Given the description of an element on the screen output the (x, y) to click on. 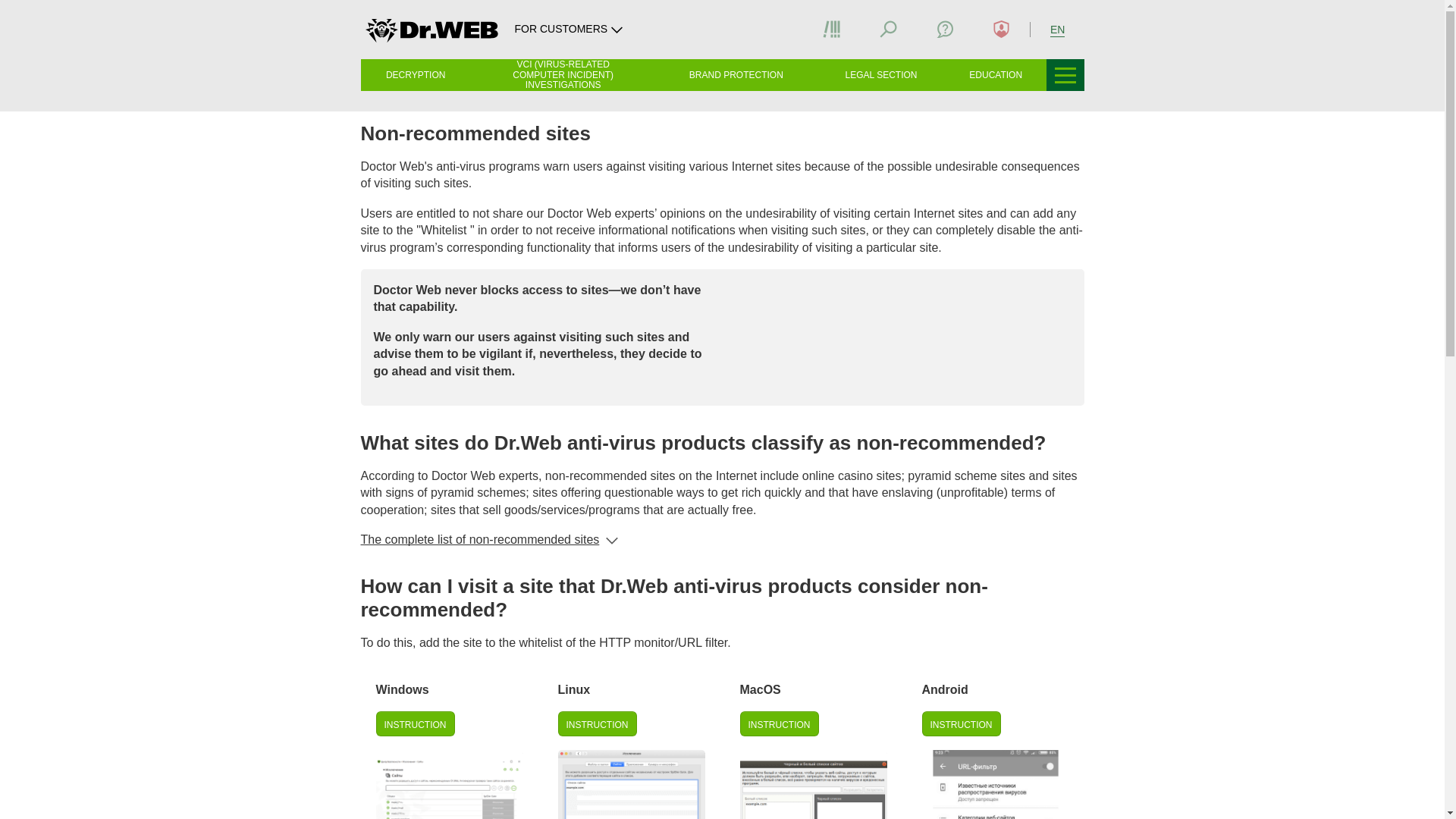
Contact us (945, 28)
FOR CUSTOMERS (570, 28)
Profile (1001, 28)
Library (831, 28)
Other sections (1065, 74)
Library (831, 28)
Contact us (944, 28)
Profile (1000, 28)
Search (888, 28)
Search (888, 28)
